Given the description of an element on the screen output the (x, y) to click on. 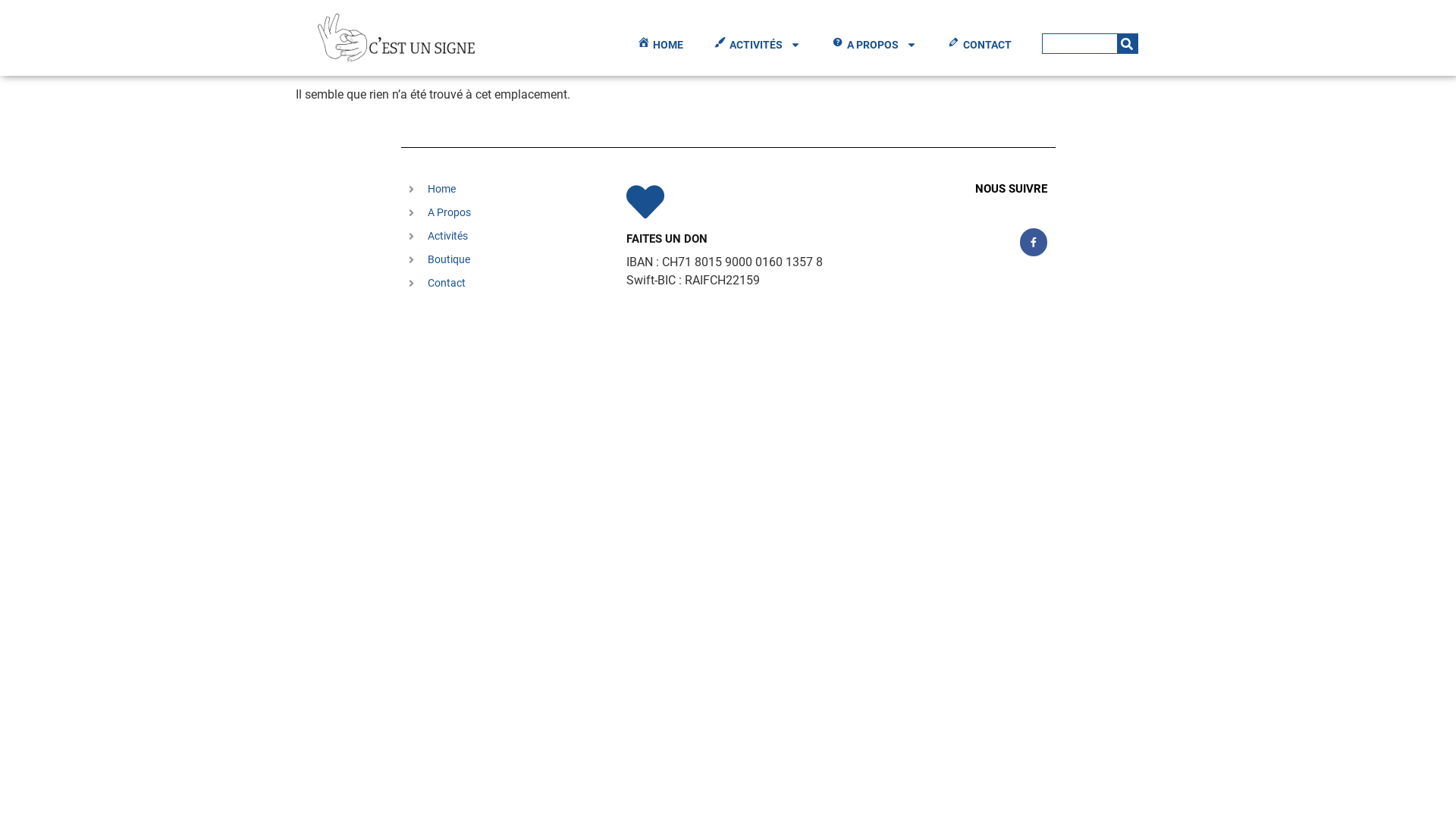
Contact Element type: text (509, 282)
HOME Element type: text (659, 44)
Rechercher  Element type: hover (1127, 43)
Rechercher  Element type: hover (1079, 43)
CONTACT Element type: text (978, 44)
Home Element type: text (509, 188)
A Propos Element type: text (509, 212)
Boutique Element type: text (509, 259)
A PROPOS Element type: text (873, 44)
